Given the description of an element on the screen output the (x, y) to click on. 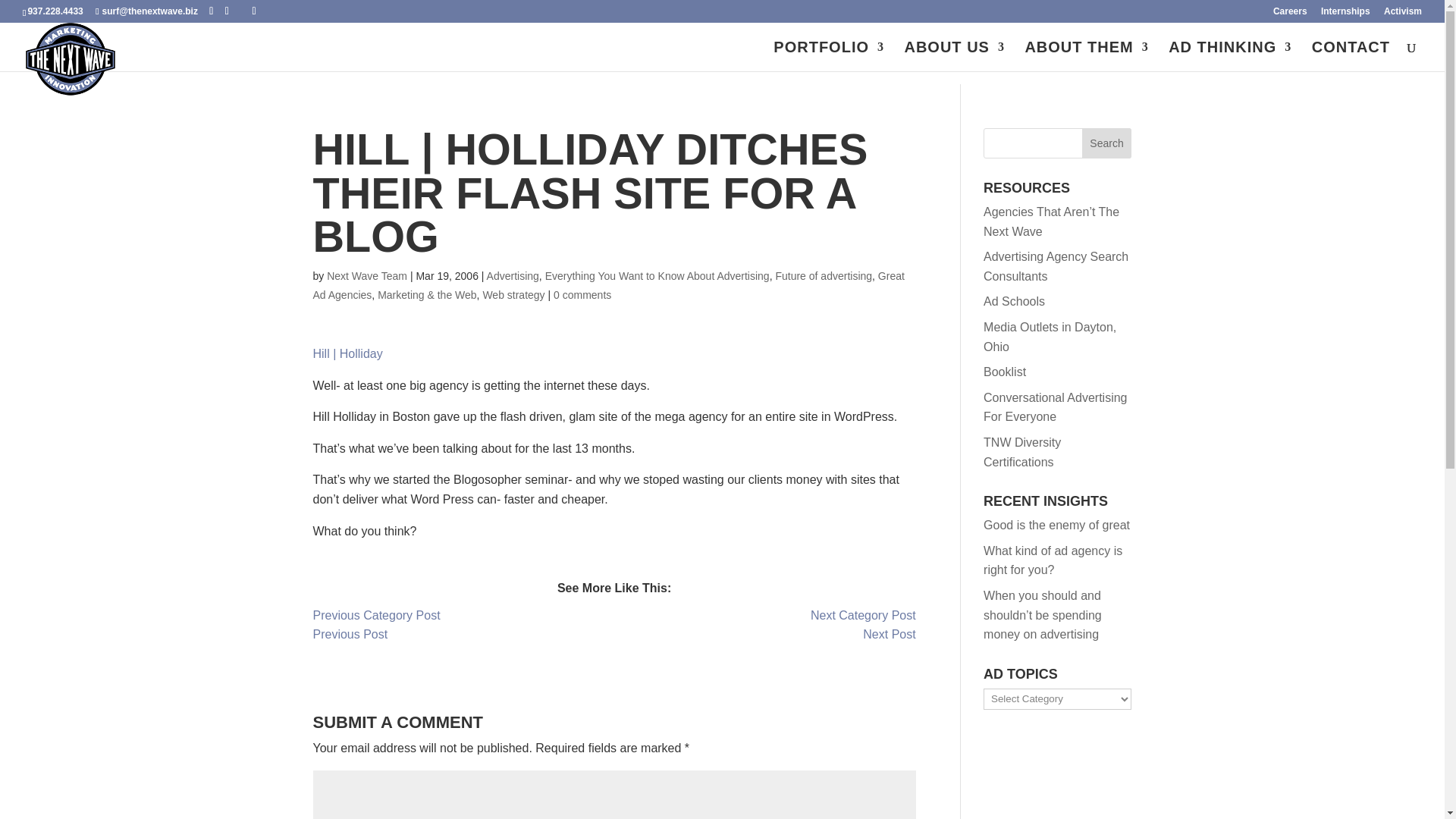
AD THINKING (1230, 56)
PORTFOLIO (828, 56)
Posts by Next Wave Team (366, 275)
Search (1106, 142)
ABOUT US (954, 56)
CONTACT (1350, 56)
ABOUT THEM (1086, 56)
Activism (1403, 14)
Careers (1289, 14)
Internships (1345, 14)
